Given the description of an element on the screen output the (x, y) to click on. 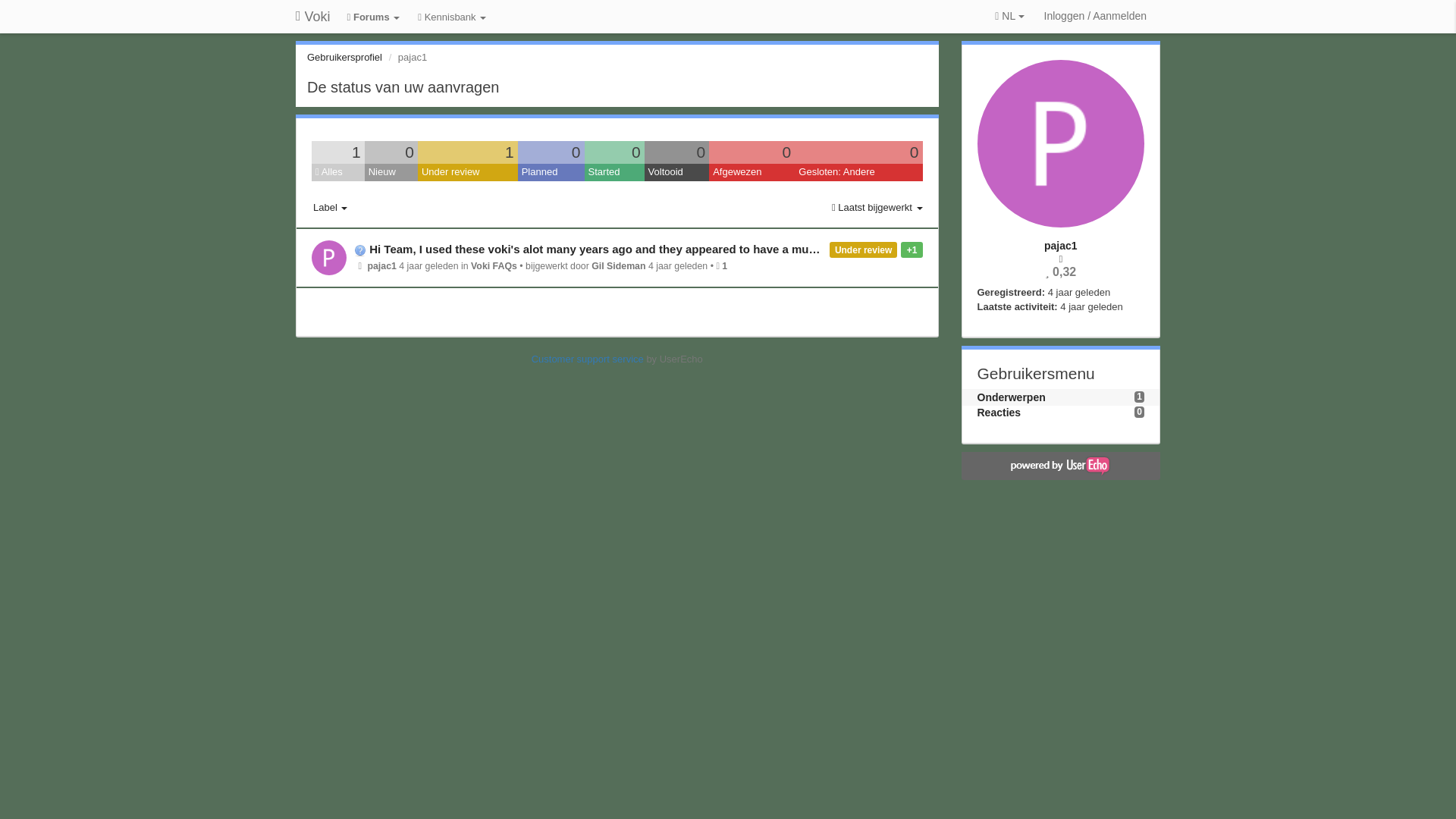
Kennisbank (452, 17)
Voki (312, 16)
29 maart 2020 21:43 (1090, 306)
Vragen (361, 248)
Forums (374, 17)
NL (1008, 16)
29 maart 2020 21:43 (1078, 292)
